Given the description of an element on the screen output the (x, y) to click on. 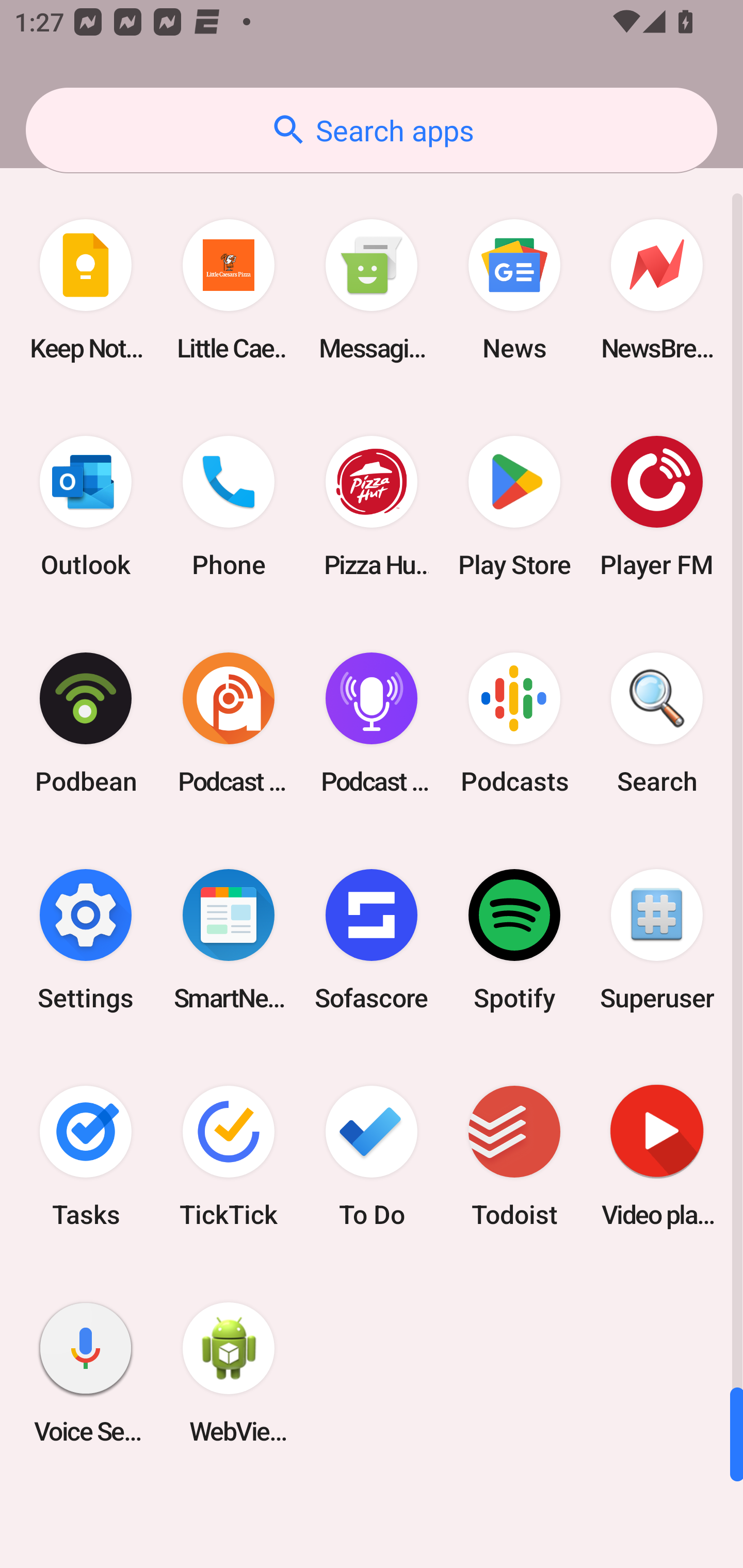
  Search apps (371, 130)
Keep Notes (85, 289)
Little Caesars Pizza (228, 289)
Messaging (371, 289)
News (514, 289)
NewsBreak (656, 289)
Outlook (85, 506)
Phone (228, 506)
Pizza Hut HK & Macau (371, 506)
Play Store (514, 506)
Player FM (656, 506)
Podbean (85, 722)
Podcast Addict (228, 722)
Podcast Player (371, 722)
Podcasts (514, 722)
Search (656, 722)
Settings (85, 939)
SmartNews (228, 939)
Sofascore (371, 939)
Spotify (514, 939)
Superuser (656, 939)
Tasks (85, 1156)
TickTick (228, 1156)
To Do (371, 1156)
Todoist (514, 1156)
Video player (656, 1156)
Voice Search (85, 1373)
WebView Browser Tester (228, 1373)
